Given the description of an element on the screen output the (x, y) to click on. 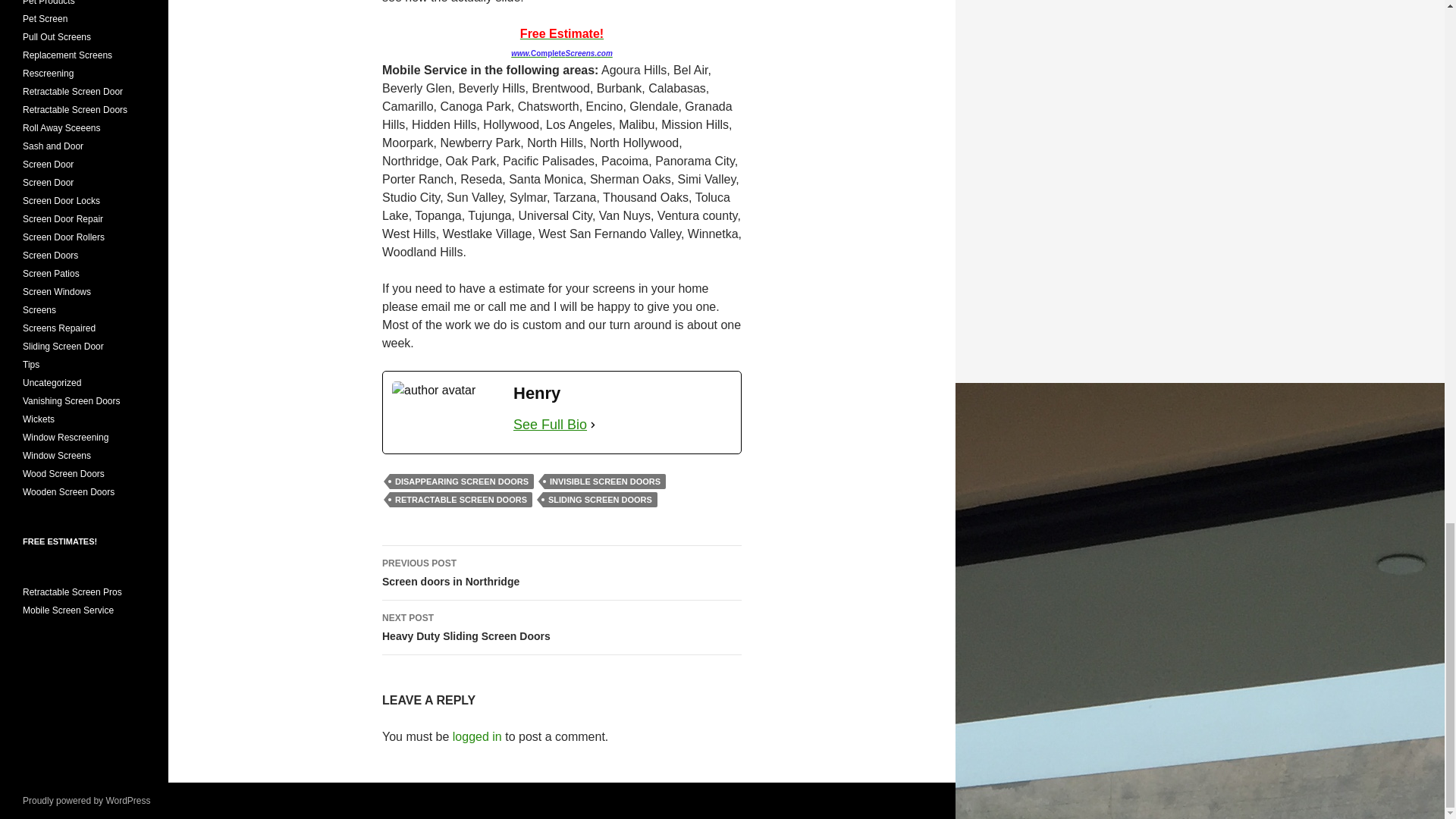
RETRACTABLE SCREEN DOORS (461, 499)
DISAPPEARING SCREEN DOORS (462, 481)
Retractable Screen Doors (561, 573)
SLIDING SCREEN DOORS (72, 592)
See Full Bio (600, 499)
logged in (561, 627)
INVISIBLE SCREEN DOORS (549, 424)
